Given the description of an element on the screen output the (x, y) to click on. 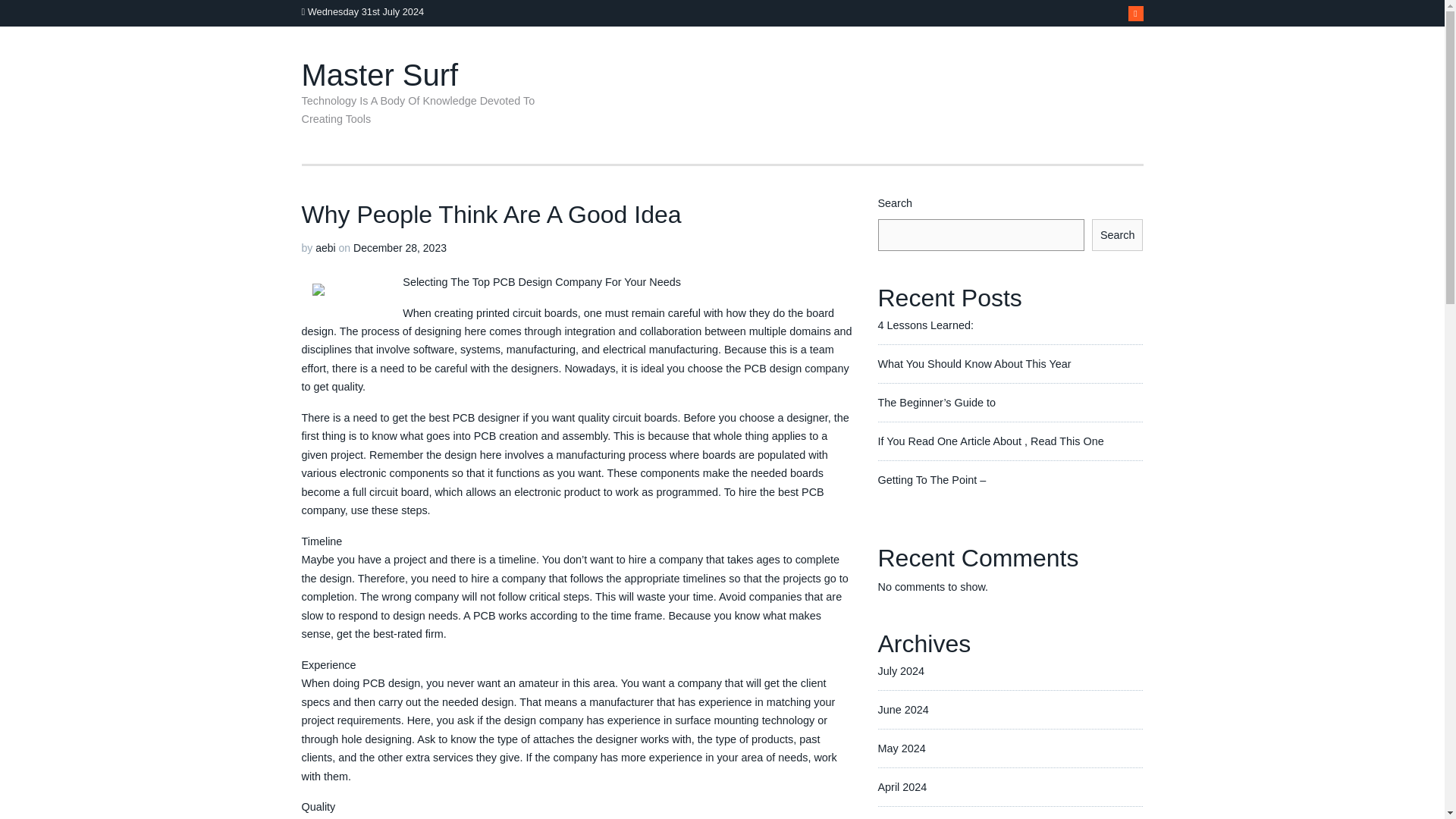
aebi (324, 247)
May 2024 (901, 748)
July 2024 (900, 671)
Master Surf (379, 74)
April 2024 (902, 787)
4 Lessons Learned: (925, 325)
If You Read One Article About , Read This One (990, 440)
Search (1117, 234)
June 2024 (902, 709)
December 28, 2023 (399, 247)
Master Surf (379, 74)
What You Should Know About This Year (974, 363)
